Given the description of an element on the screen output the (x, y) to click on. 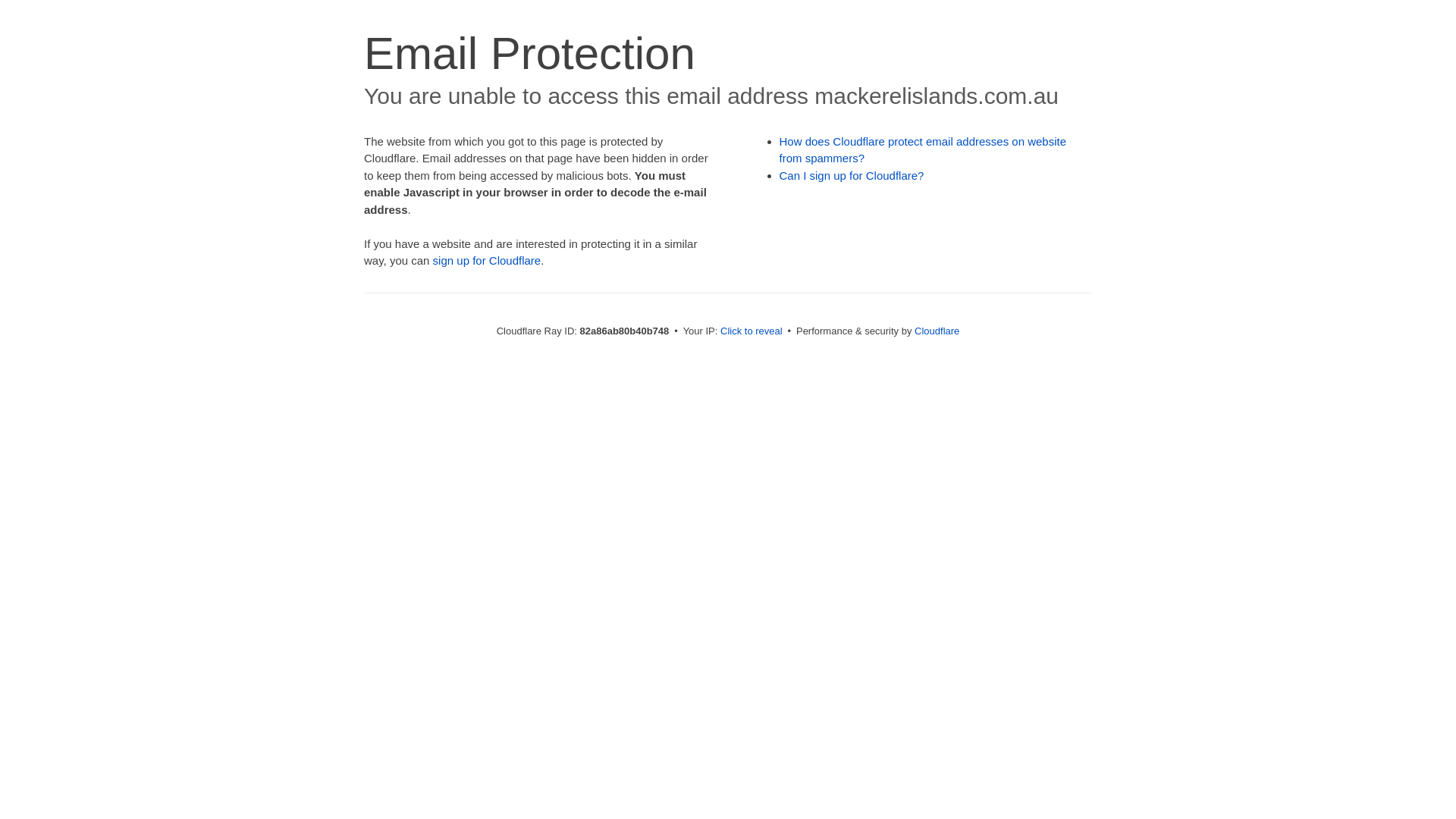
Click to reveal Element type: text (751, 330)
Can I sign up for Cloudflare? Element type: text (851, 175)
sign up for Cloudflare Element type: text (487, 260)
Cloudflare Element type: text (936, 330)
